Given the description of an element on the screen output the (x, y) to click on. 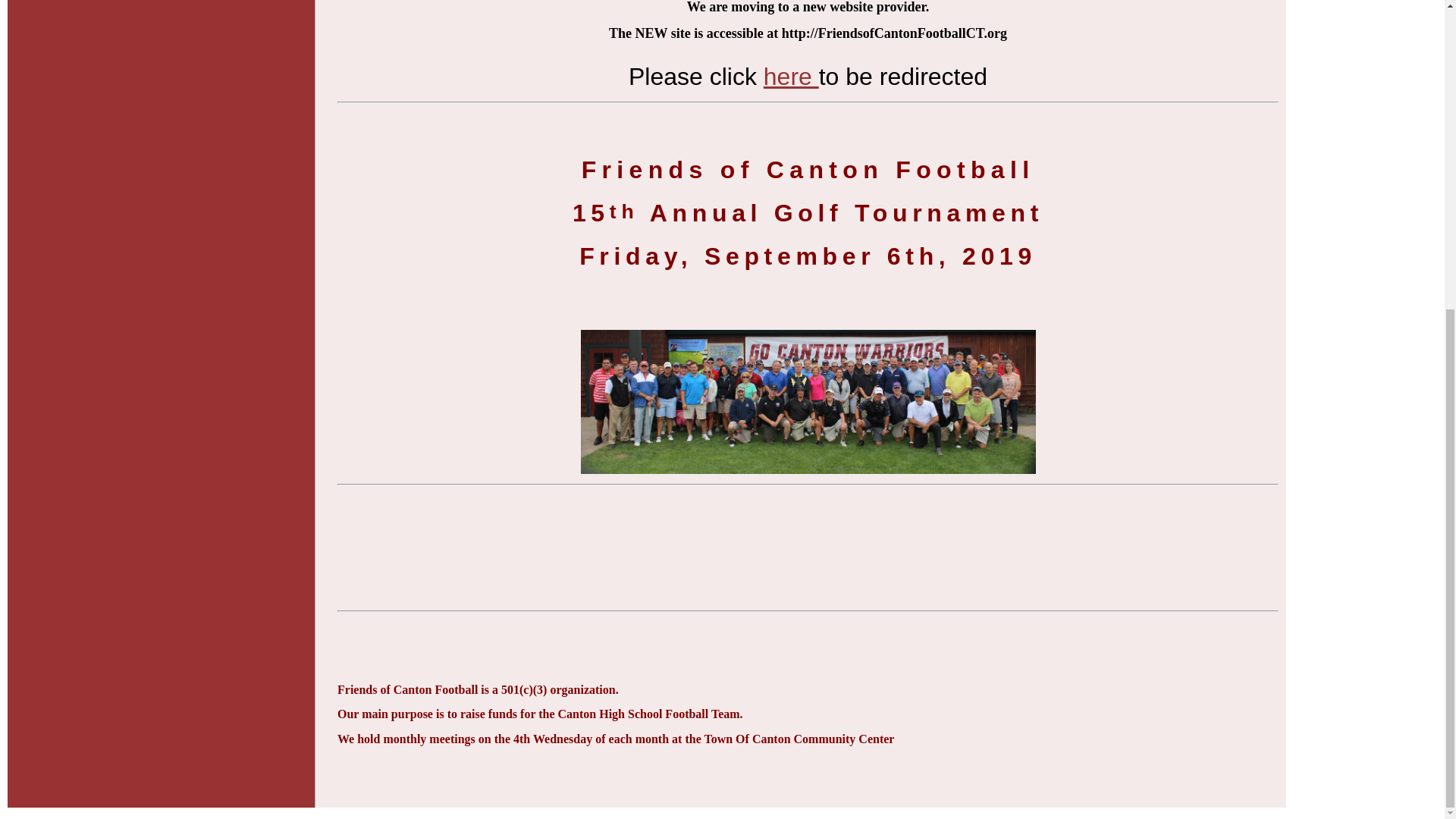
FriendsofCantonFootballCT.org (790, 76)
2015 Golf Tournament (807, 402)
here (790, 76)
